Given the description of an element on the screen output the (x, y) to click on. 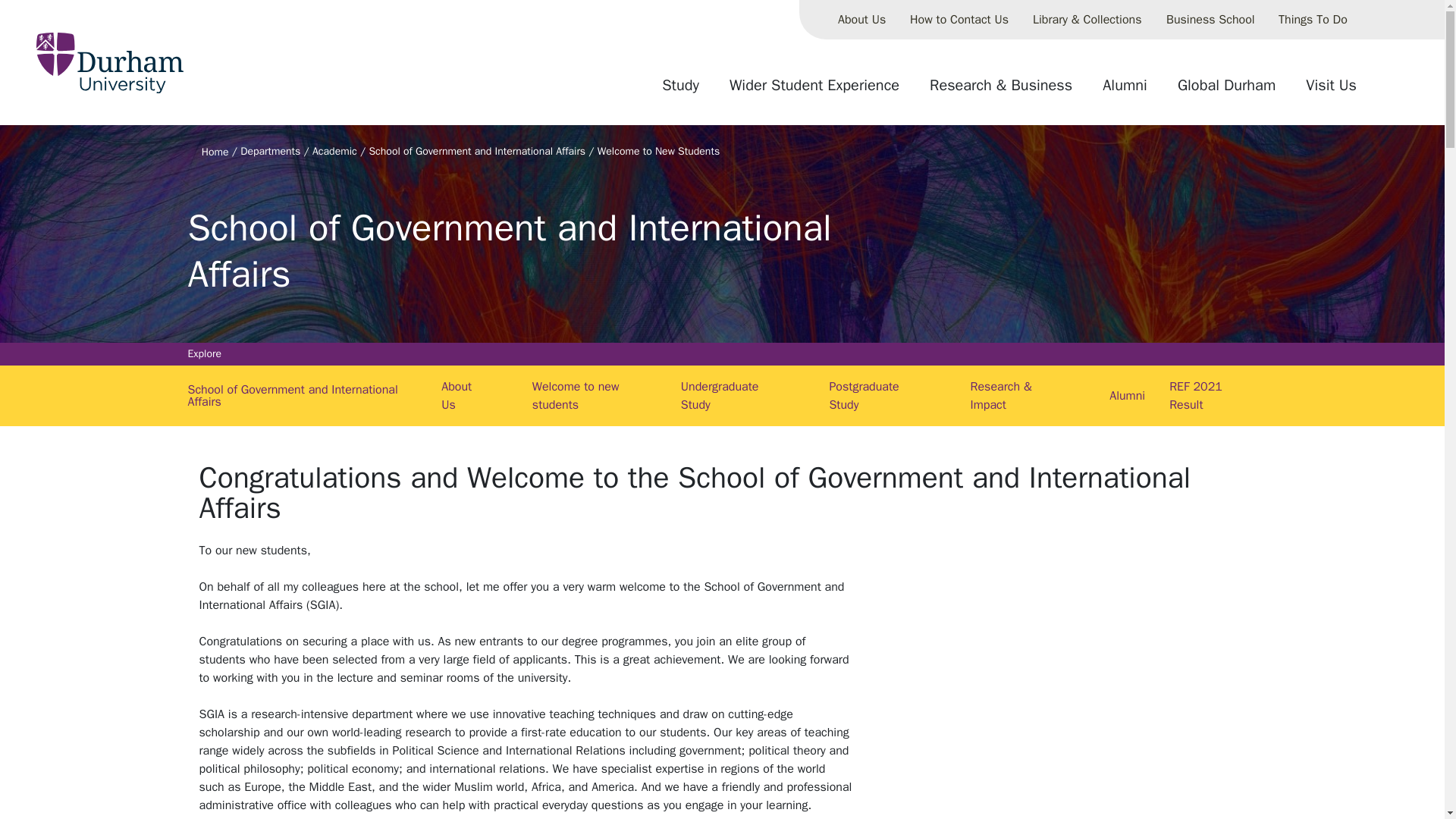
Alumni (1124, 91)
Visit Us (1331, 91)
Wider Student Experience (814, 91)
Things To Do (1312, 19)
Business School (1210, 19)
How to Contact Us (959, 19)
Global Durham (1226, 91)
Study (680, 91)
About Us (861, 19)
